Given the description of an element on the screen output the (x, y) to click on. 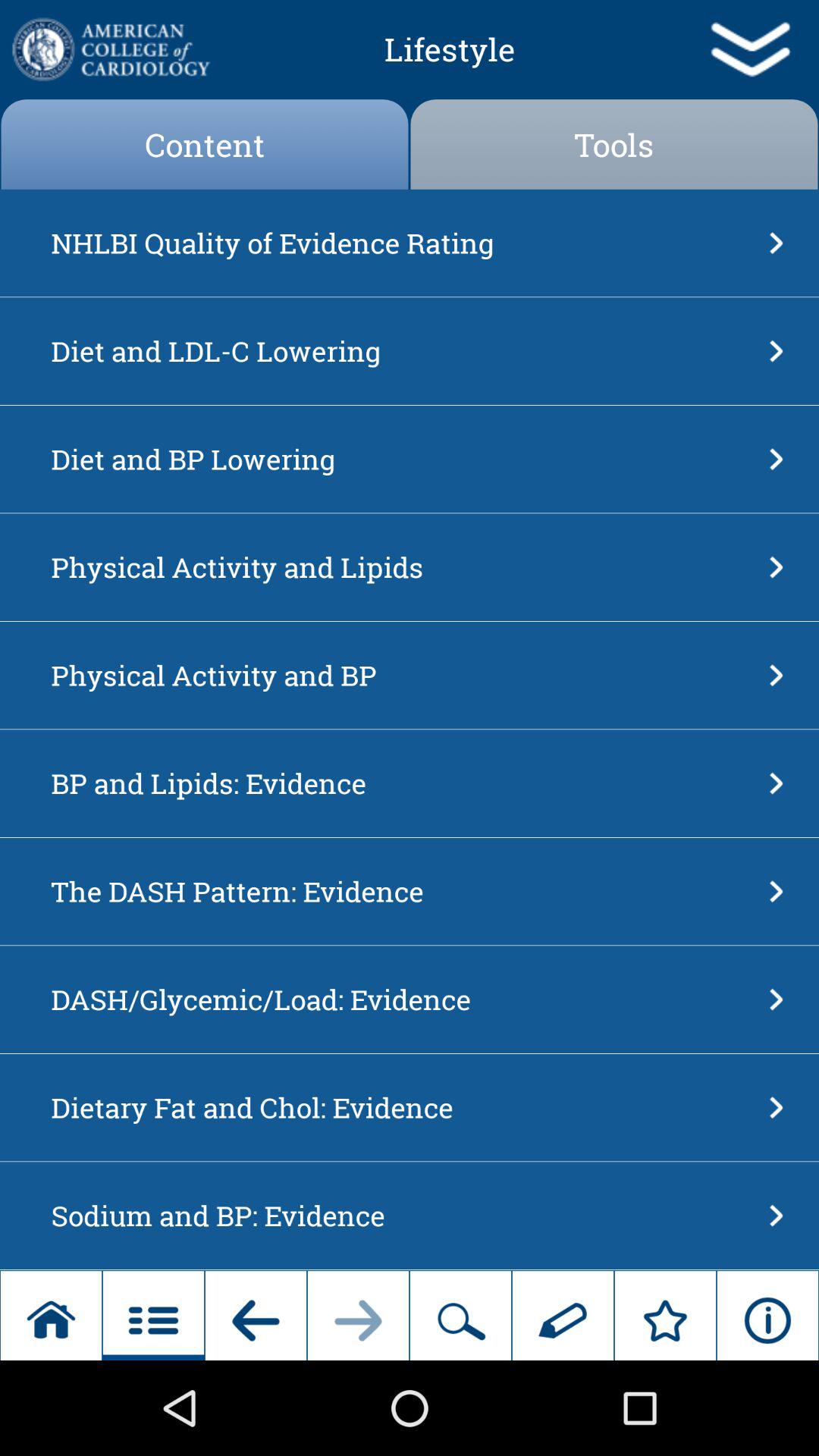
jump to dietary fat and icon (405, 1107)
